Given the description of an element on the screen output the (x, y) to click on. 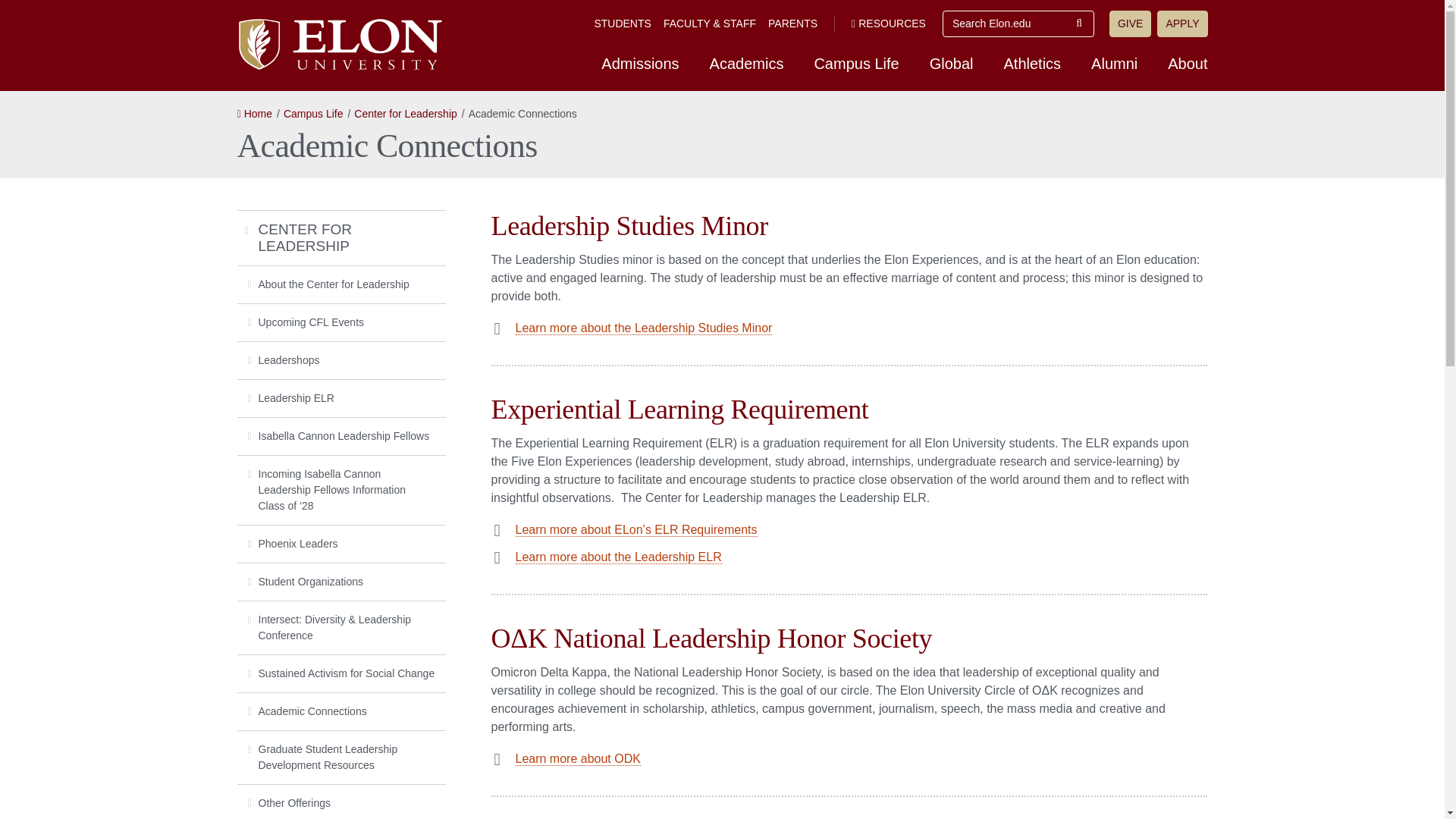
Learn more about the Leadership Studies Minor (644, 327)
Learn more about ODK (577, 758)
Campus Life (855, 63)
About (1188, 63)
Athletics (1032, 63)
Elon University home (338, 44)
Submit Search (1079, 23)
STUDENTS (622, 23)
RESOURCES (888, 23)
Learn more about the Leadership ELR (618, 557)
APPLY (1182, 23)
PARENTS (792, 23)
Campus Life (313, 113)
Admissions (640, 63)
Center for Leadership (405, 113)
